Given the description of an element on the screen output the (x, y) to click on. 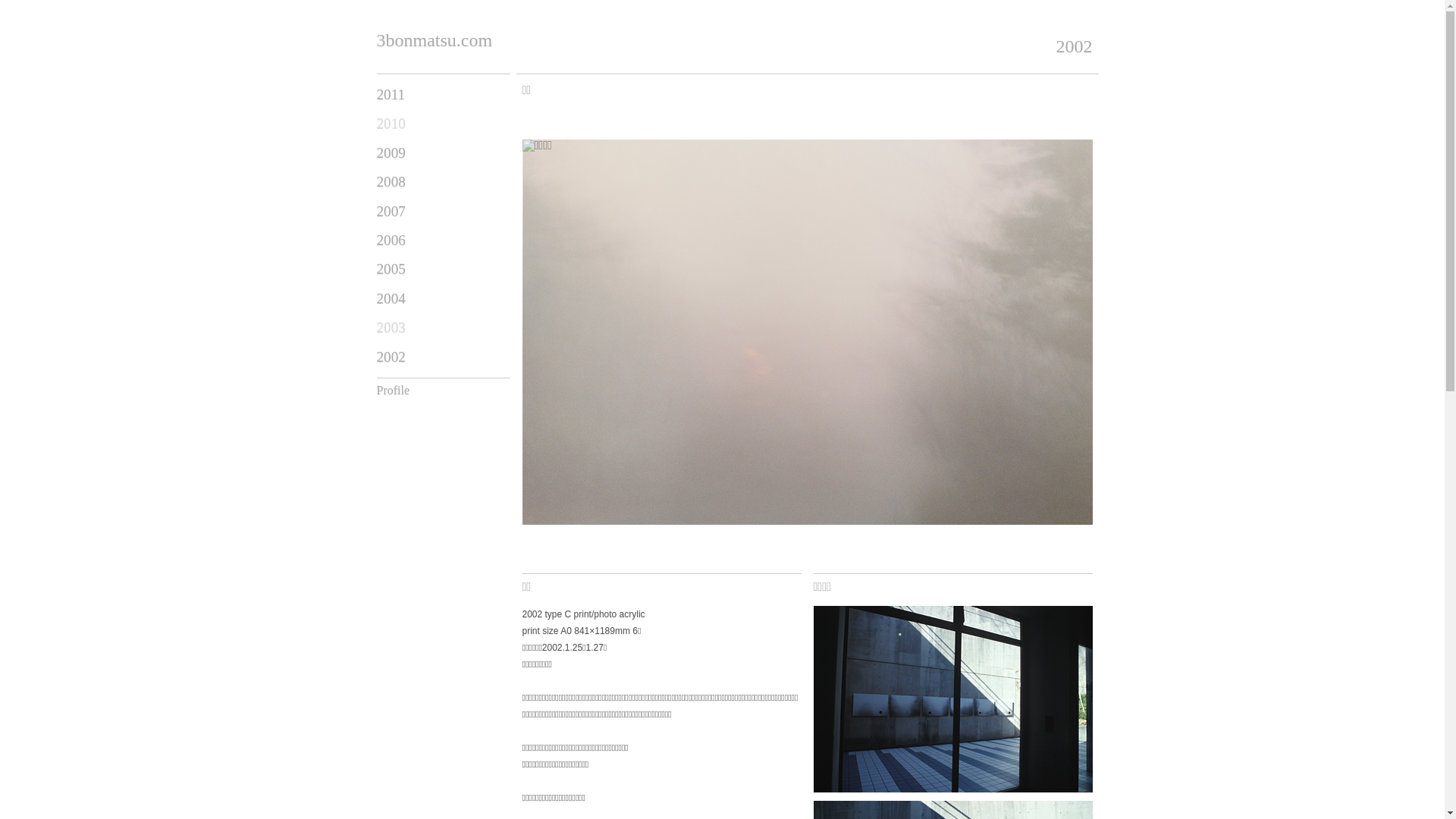
2007 Element type: text (390, 211)
2006 Element type: text (390, 239)
2008 Element type: text (390, 181)
Profile Element type: text (392, 389)
2004 Element type: text (390, 298)
2009 Element type: text (390, 152)
2005 Element type: text (390, 268)
3bonmatsu.com Element type: text (434, 40)
2002 Element type: text (1073, 46)
2011 Element type: text (390, 94)
2002 Element type: text (390, 356)
